Given the description of an element on the screen output the (x, y) to click on. 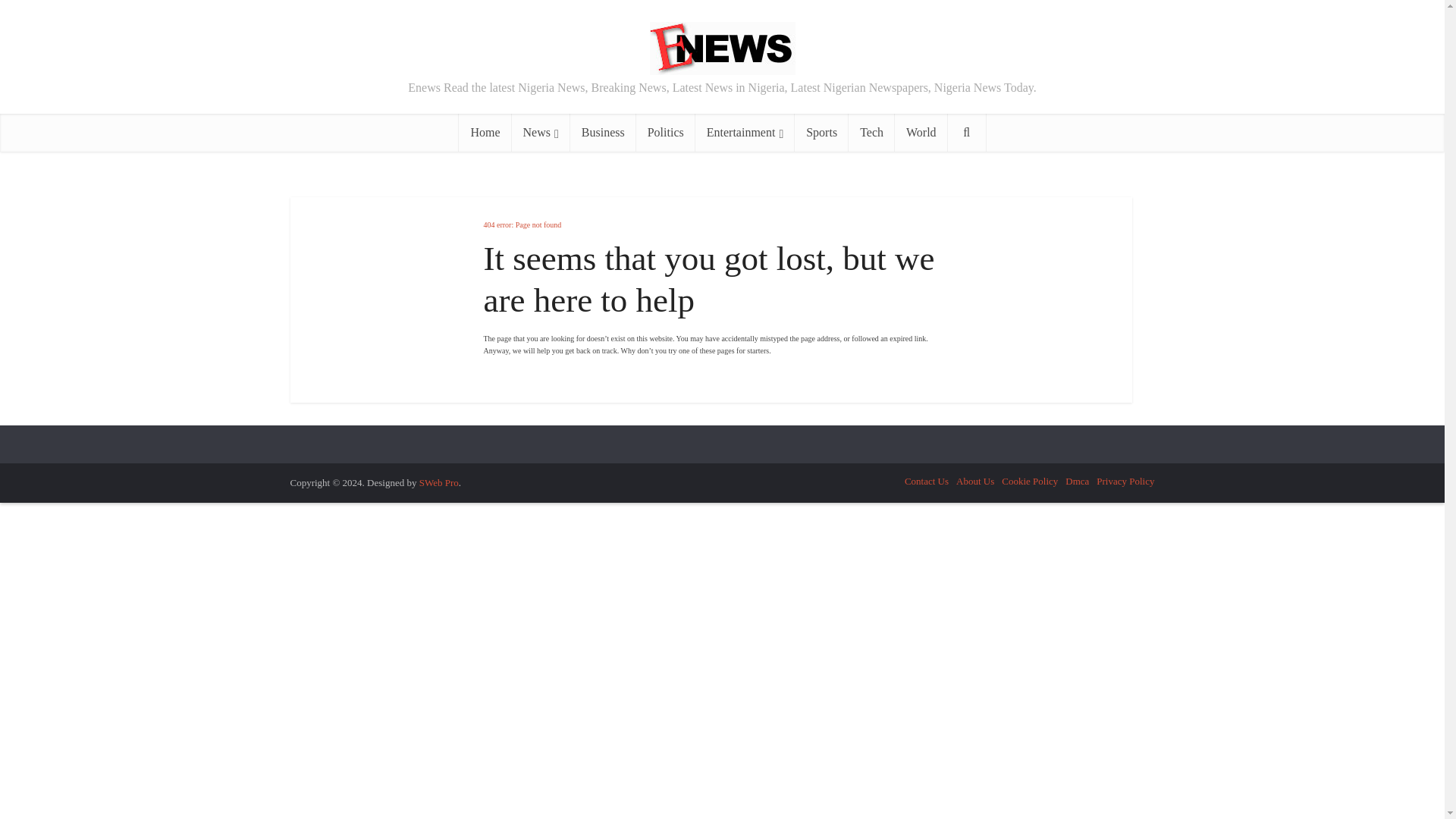
SWeb Pro (438, 482)
Privacy Policy (1125, 480)
About Us (975, 480)
World (921, 132)
Cookie Policy (1029, 480)
Dmca (1077, 480)
Sports (821, 132)
Tech (871, 132)
News (541, 132)
Home (484, 132)
Business (603, 132)
Contact Us (926, 480)
Politics (665, 132)
Entertainment (744, 132)
